Given the description of an element on the screen output the (x, y) to click on. 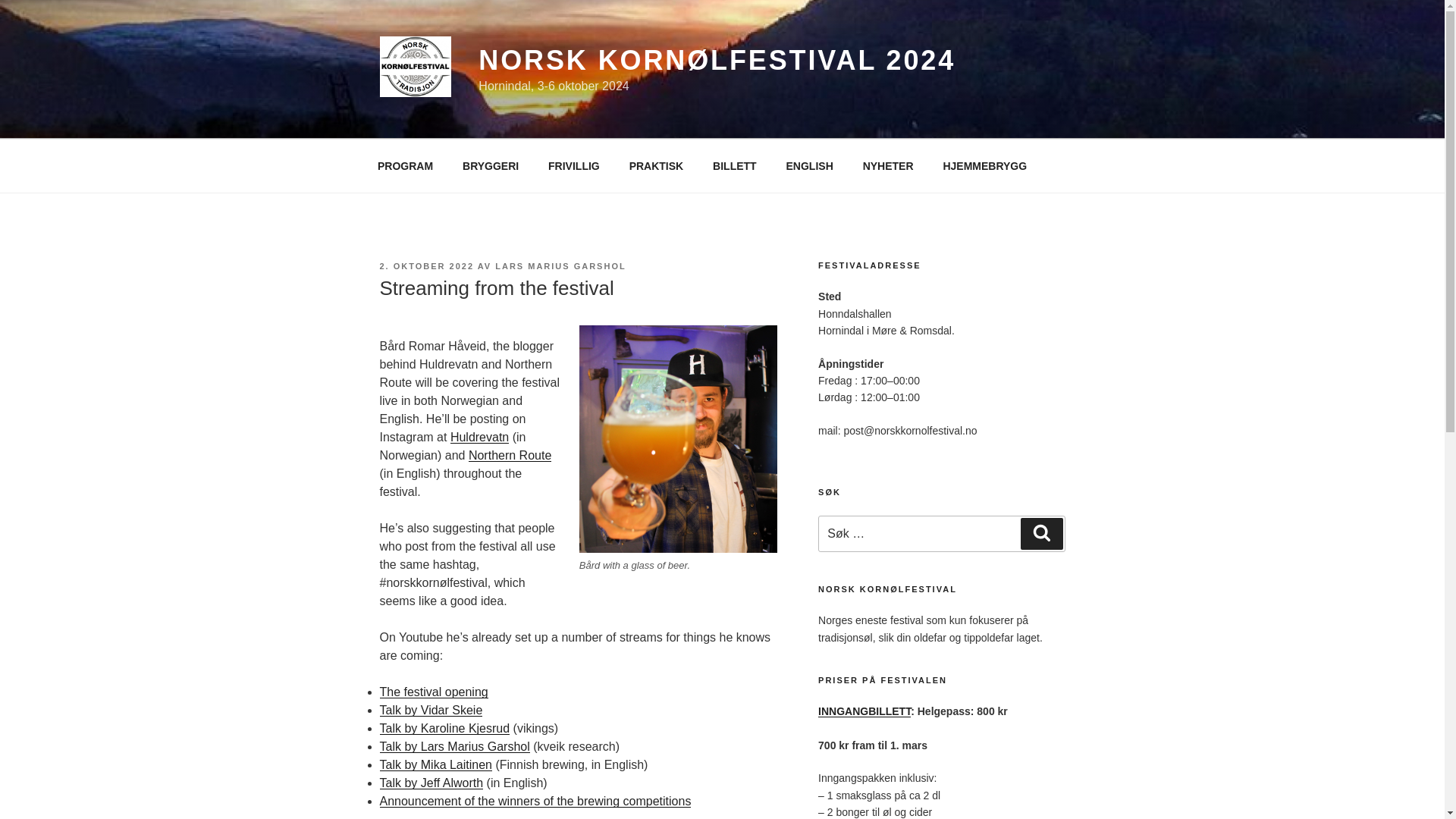
LARS MARIUS GARSHOL (560, 266)
BILLETT (735, 165)
Huldrevatn (478, 436)
Talk by Mika Laitinen (435, 764)
The festival opening (432, 691)
Announcement of the winners of the brewing competitions (534, 800)
PROGRAM (404, 165)
Talk by Vidar Skeie (429, 709)
ENGLISH (809, 165)
BRYGGERI (490, 165)
Talk by Lars Marius Garshol (453, 746)
Northern Route (509, 454)
FRIVILLIG (573, 165)
2. OKTOBER 2022 (426, 266)
PRAKTISK (656, 165)
